Given the description of an element on the screen output the (x, y) to click on. 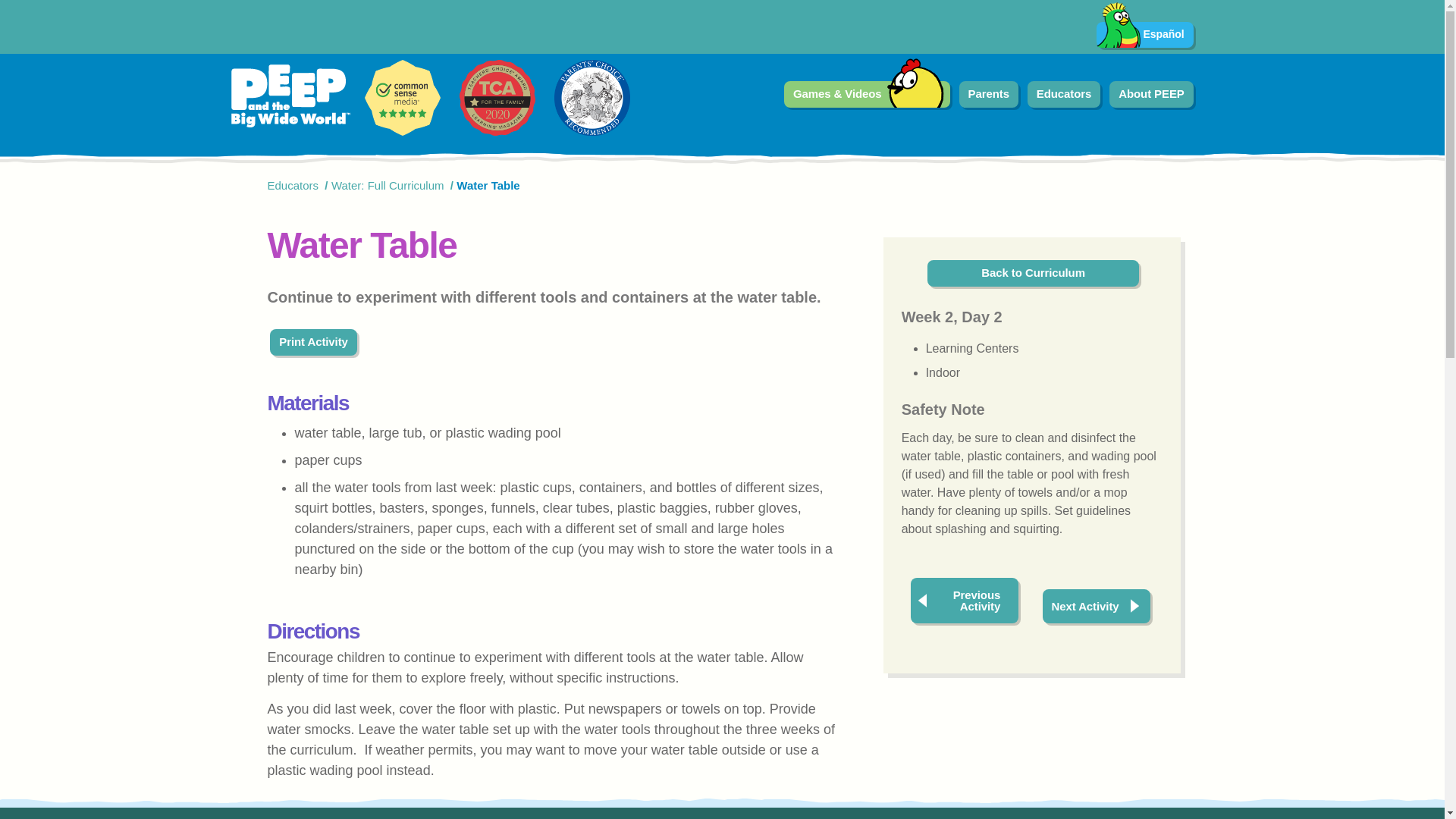
Previous Activity (963, 600)
Educators (1063, 94)
About PEEP (1151, 94)
Next Activity (1096, 605)
Print Activity (312, 342)
Parents (988, 94)
Water Table (488, 185)
Water: Full Curriculum (387, 185)
Educators (292, 185)
Back to Curriculum (1032, 273)
